Given the description of an element on the screen output the (x, y) to click on. 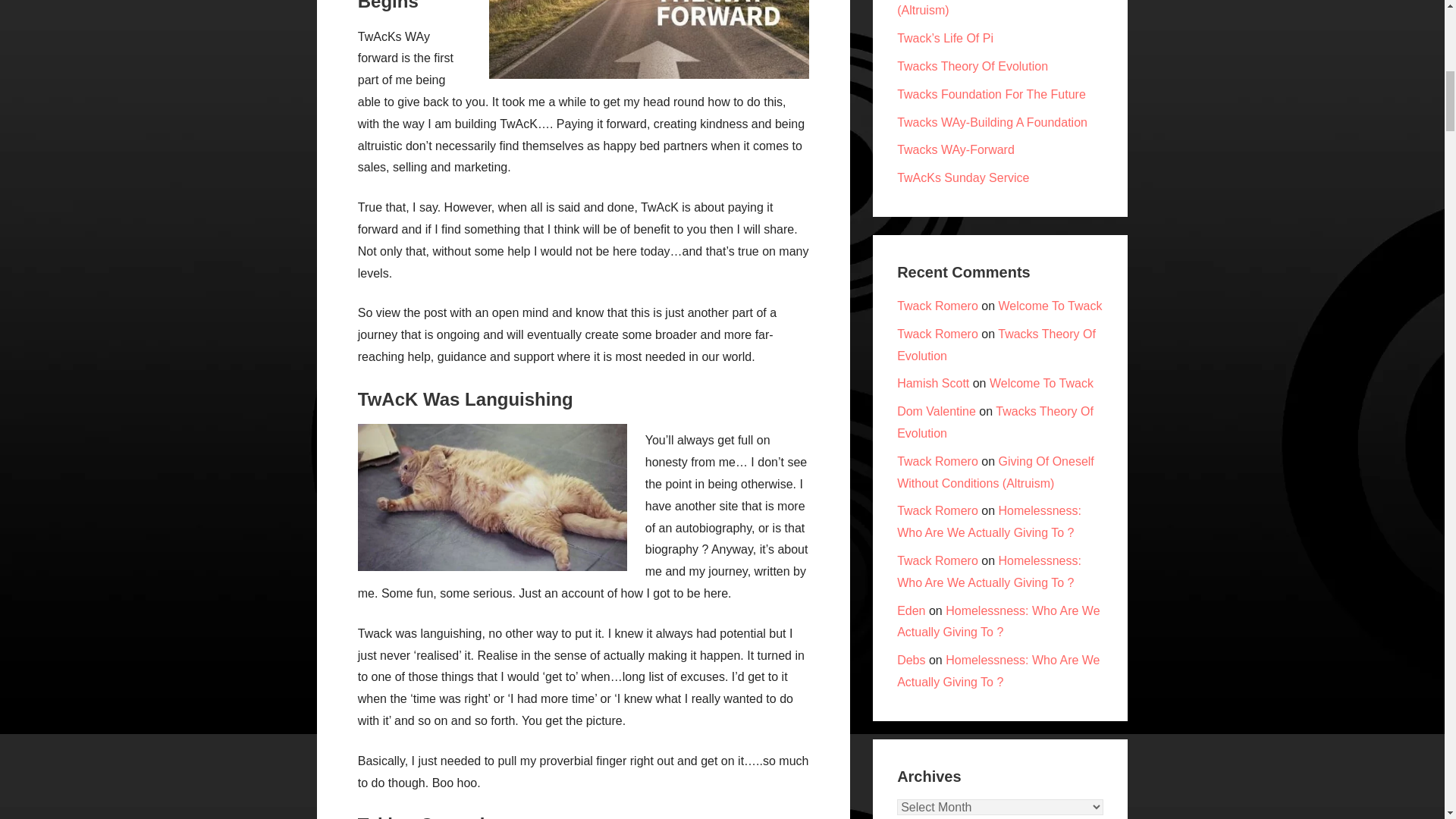
Languishing (492, 497)
The Way Forward (649, 39)
